Given the description of an element on the screen output the (x, y) to click on. 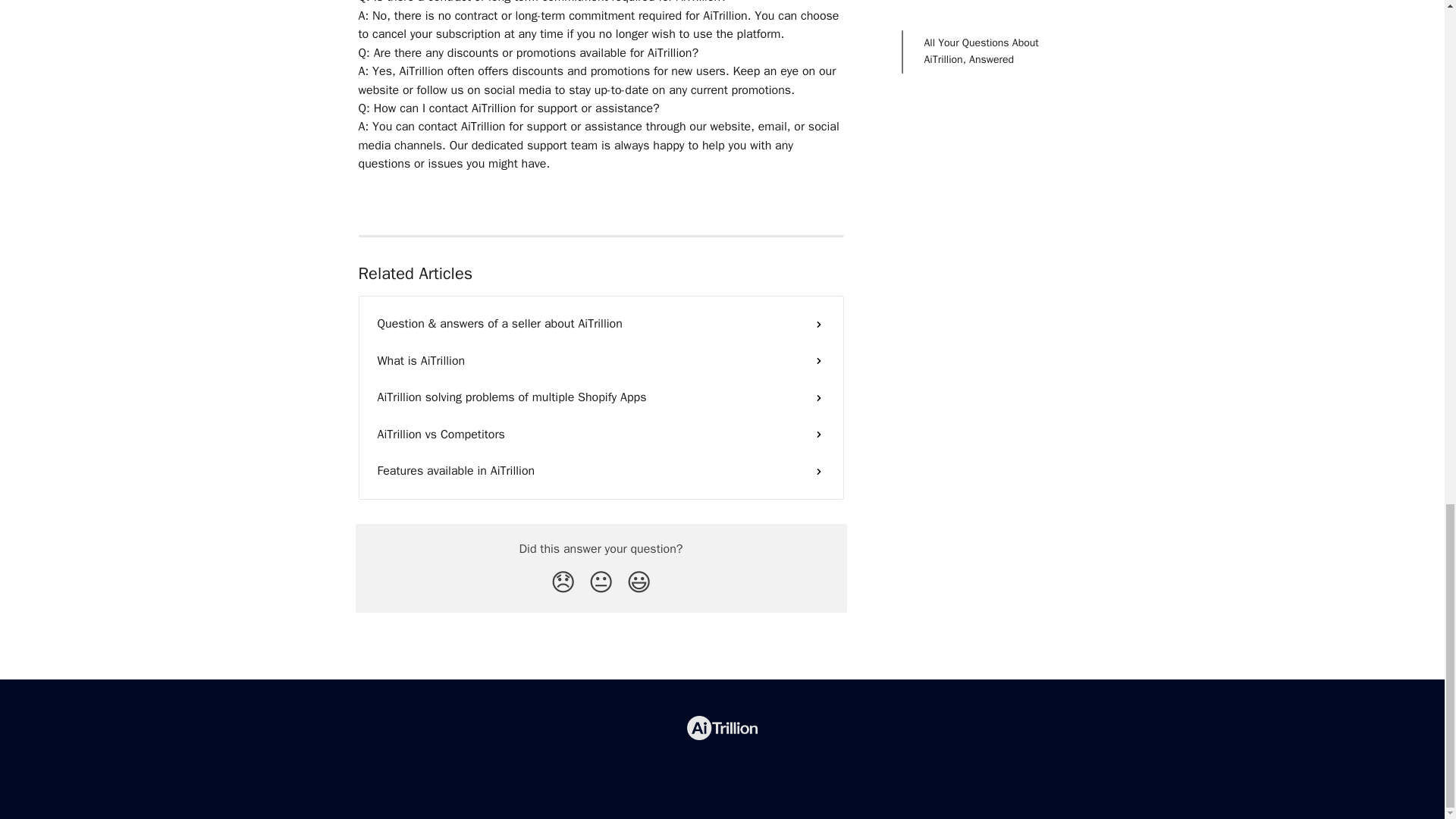
AiTrillion vs Competitors (601, 434)
Features available in AiTrillion (601, 470)
AiTrillion solving problems of multiple Shopify Apps (601, 397)
What is AiTrillion (601, 361)
